Given the description of an element on the screen output the (x, y) to click on. 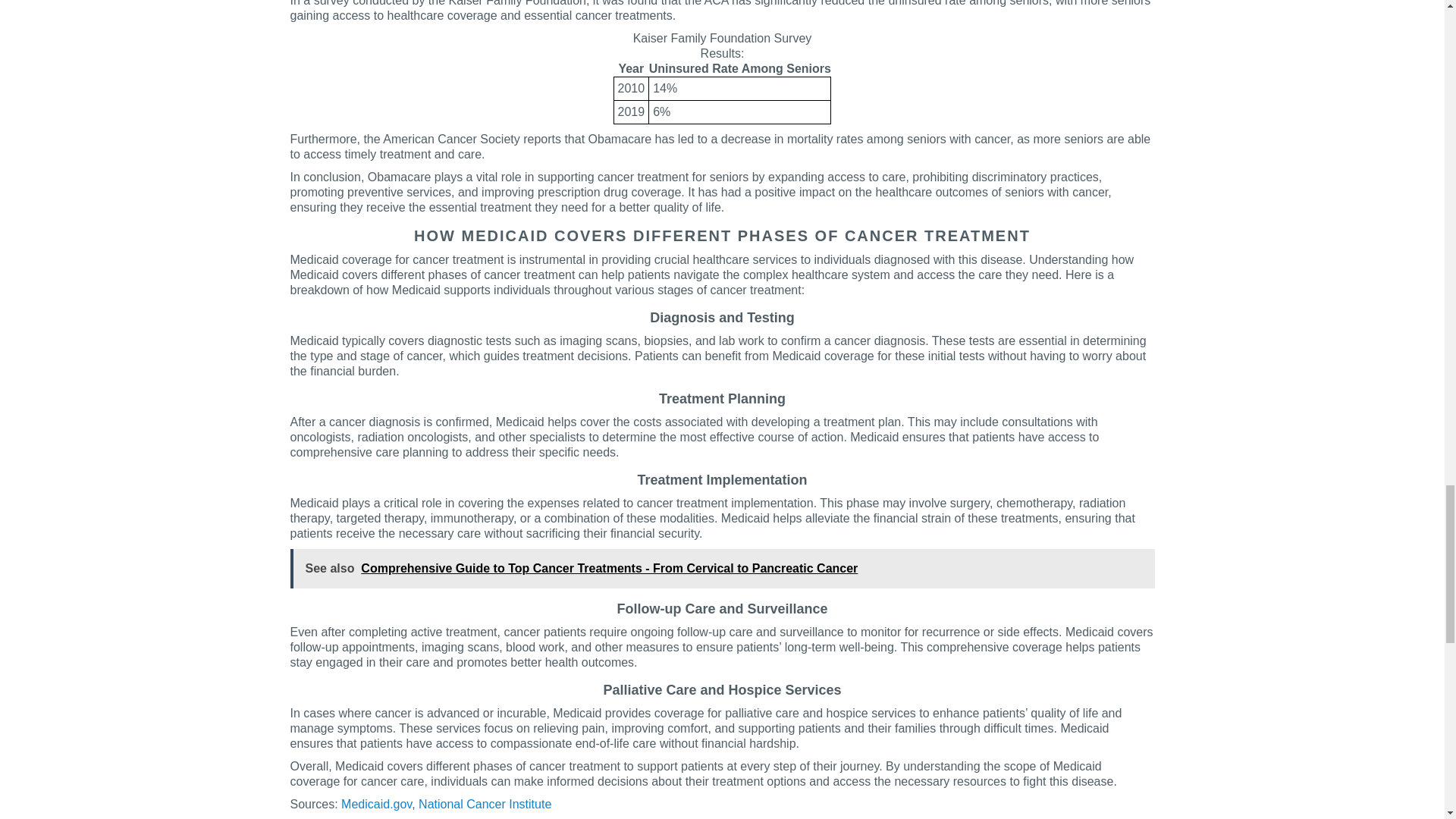
National Cancer Institute (485, 803)
Medicaid.gov (376, 803)
